Given the description of an element on the screen output the (x, y) to click on. 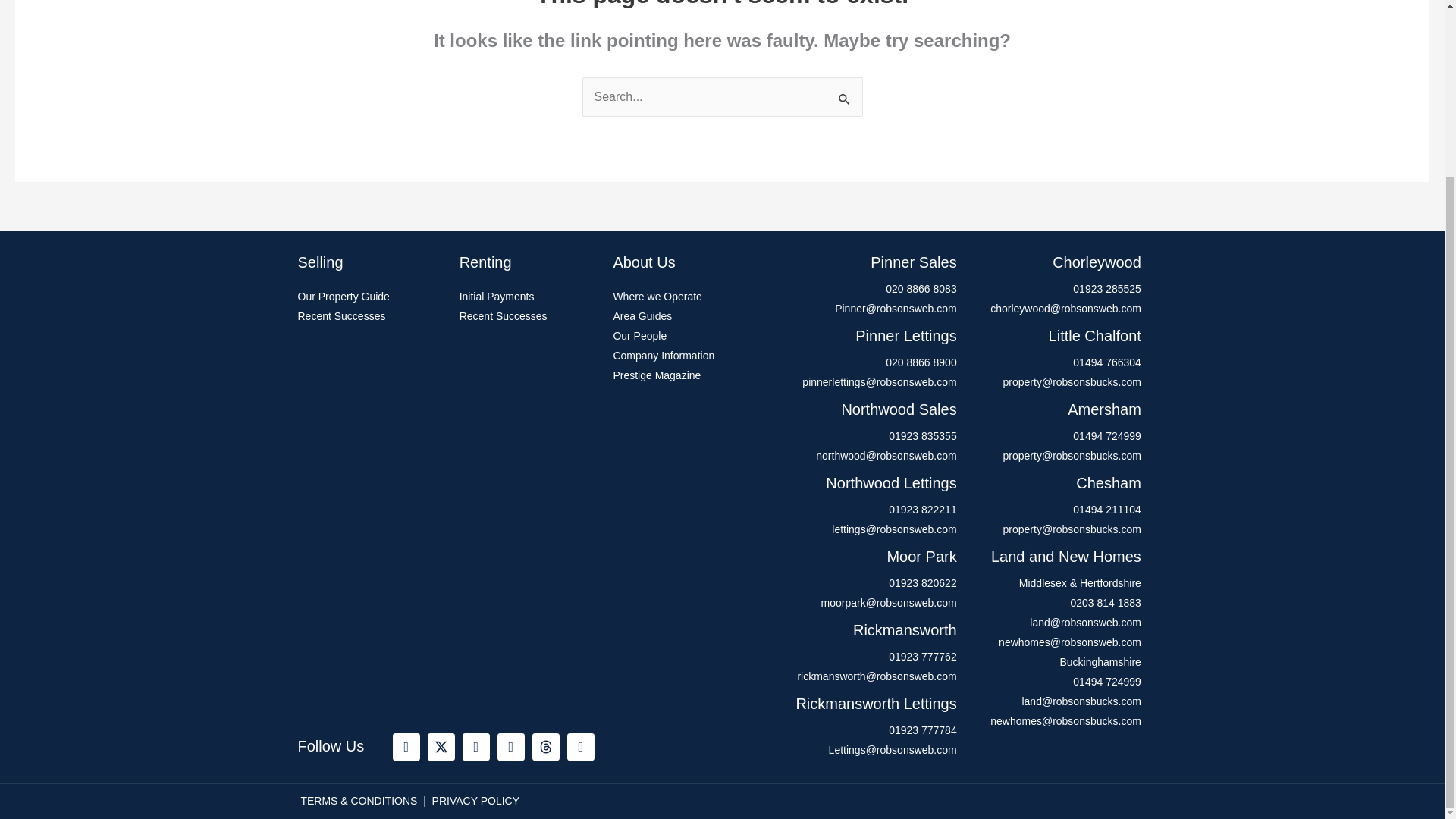
Where we Operate (683, 297)
Our People (683, 336)
Company Information (683, 356)
020 8866 8083 (864, 289)
Linkedin-in (510, 746)
Initial Payments (529, 297)
Facebook (406, 746)
Youtube (580, 746)
020 8866 8900 (864, 362)
Recent Successes (529, 316)
